Given the description of an element on the screen output the (x, y) to click on. 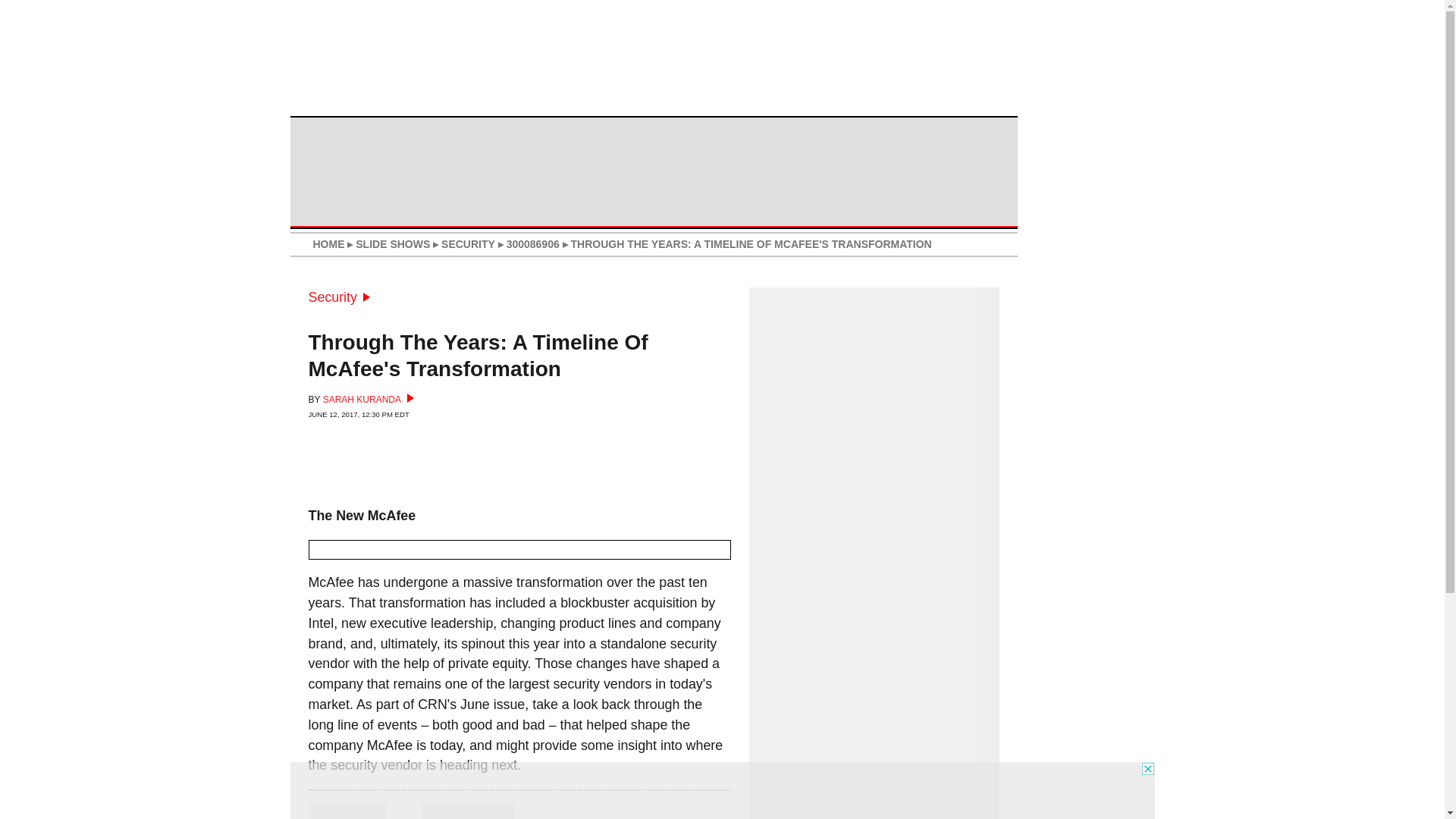
HOME (328, 244)
Security (338, 296)
SARAH KURANDA (368, 398)
AUTHOR NAME (467, 811)
Security (338, 296)
Author Name (467, 811)
